Given the description of an element on the screen output the (x, y) to click on. 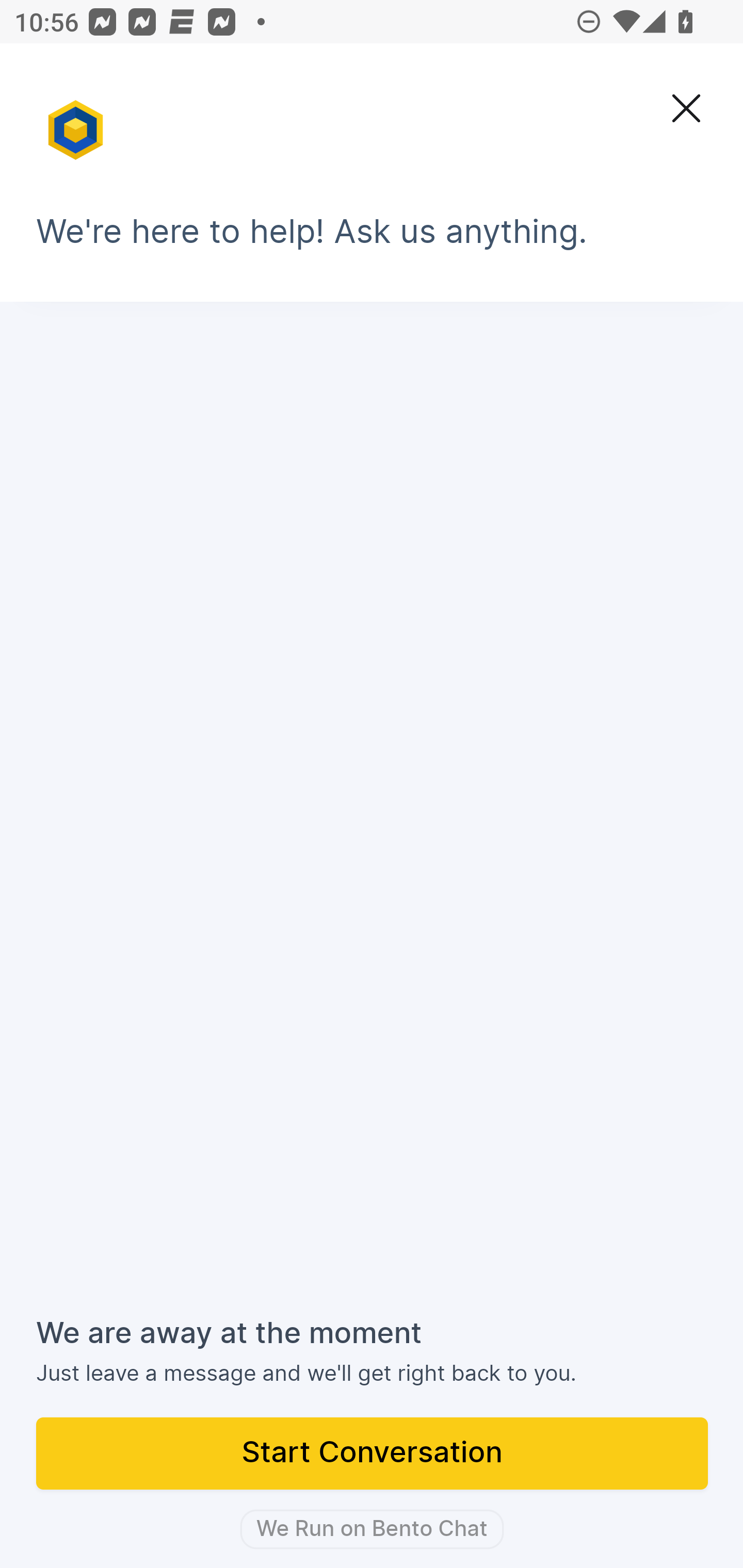
LUMI-ID-Avatar_Transparent-640w (77, 120)
Start Conversation (372, 1454)
We Run on Bento Chat (371, 1529)
